Given the description of an element on the screen output the (x, y) to click on. 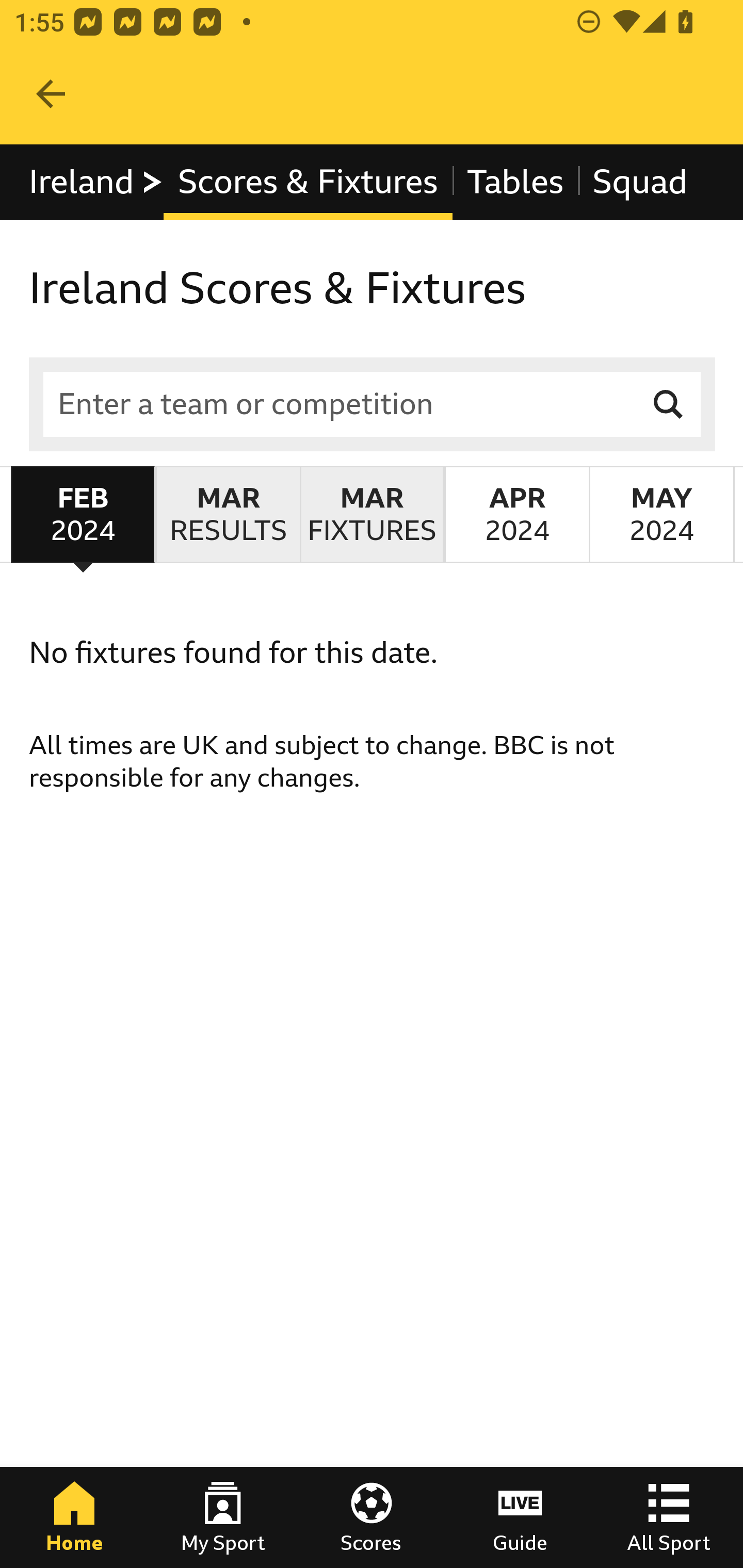
Navigate up (50, 93)
Ireland  (96, 181)
Scores & Fixtures (307, 181)
Tables (515, 181)
Squad (640, 181)
Search (669, 404)
February2024, Selected February 2024 , Selected (83, 513)
MarchRESULTS March RESULTS (227, 513)
MarchFIXTURES March FIXTURES (371, 513)
April2024 April 2024 (516, 513)
May2024 May 2024 (661, 513)
My Sport (222, 1517)
Scores (371, 1517)
Guide (519, 1517)
All Sport (668, 1517)
